Given the description of an element on the screen output the (x, y) to click on. 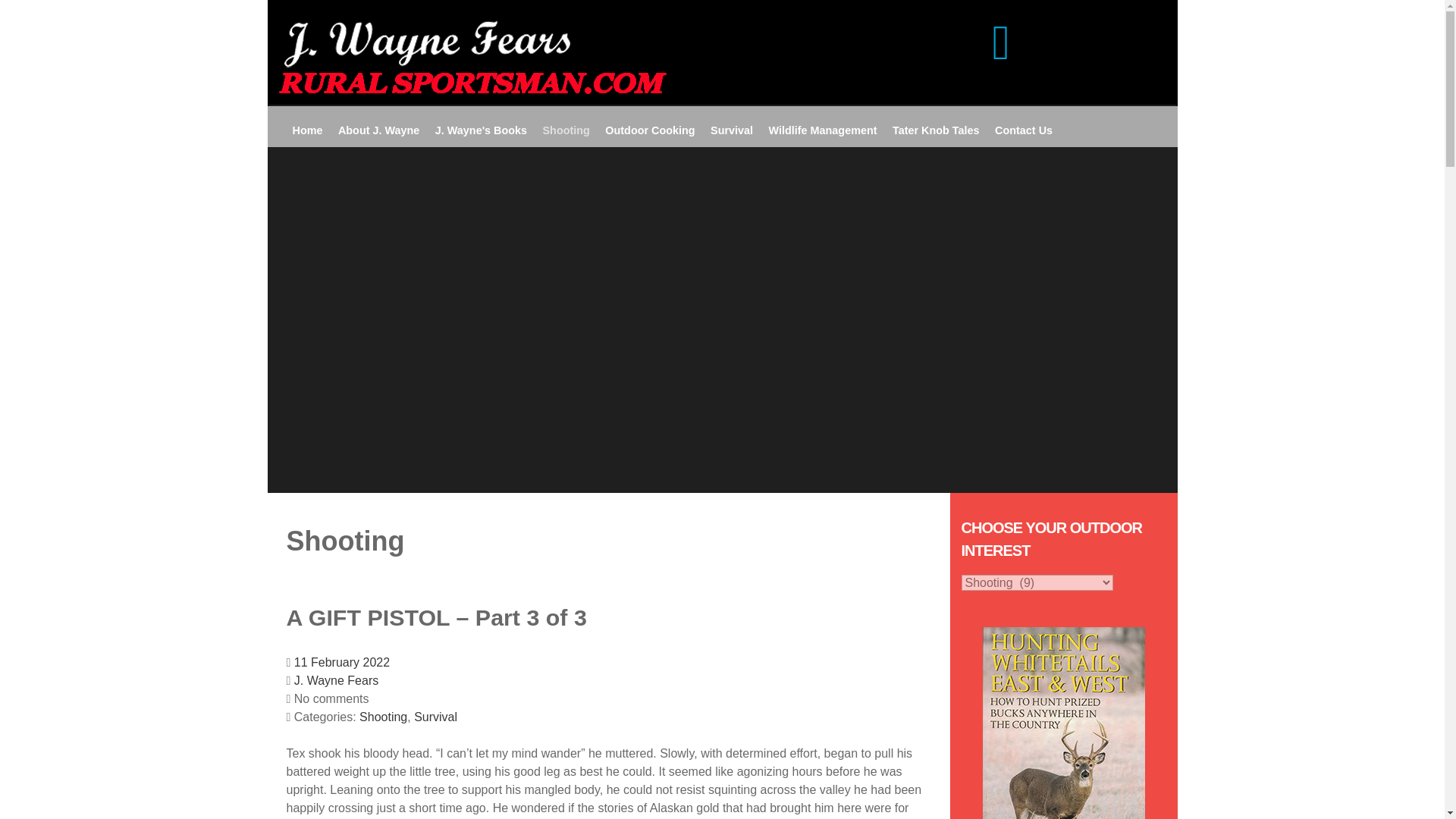
J. Wayne Fears (336, 680)
Shooting (566, 130)
Shooting (383, 716)
Tater Knob Tales (935, 130)
Wildlife Management (822, 130)
J. Wayne Fears (336, 680)
Survival (435, 716)
Home (307, 130)
Survival (435, 716)
Outdoor Cooking (649, 130)
J. Wayne's Books (481, 130)
Contact Us (1023, 130)
About J. Wayne (378, 130)
Survival (731, 130)
Shooting (383, 716)
